Given the description of an element on the screen output the (x, y) to click on. 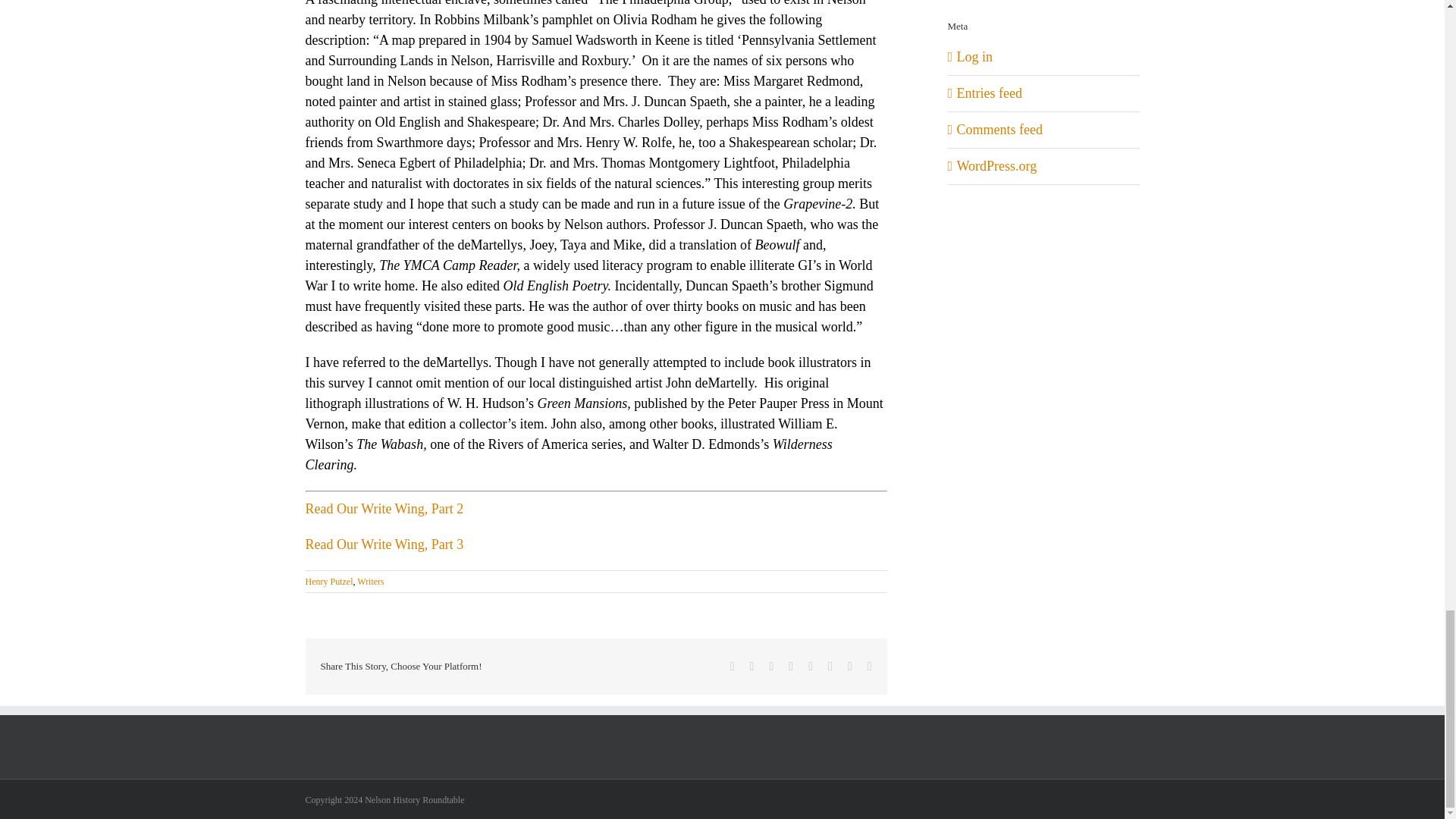
Writers (370, 581)
Read Our Write Wing, Part 3 (383, 544)
Facebook (732, 666)
Henry Putzel (328, 581)
Read Our Write Wing, Part 2 (383, 508)
